Given the description of an element on the screen output the (x, y) to click on. 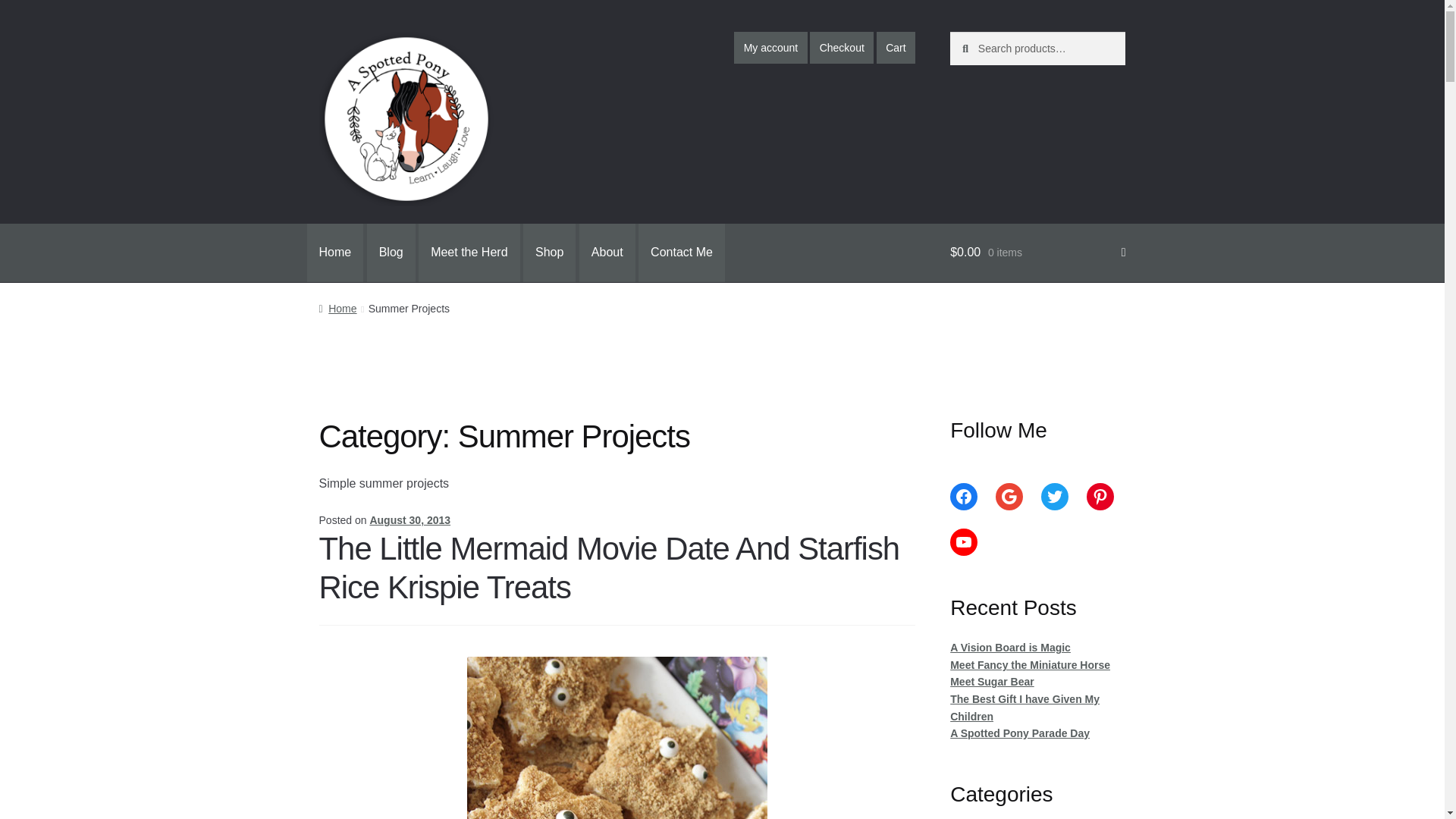
My account (769, 47)
August 30, 2013 (409, 520)
Meet the Herd (469, 252)
Contact Me (682, 252)
Checkout (841, 47)
Home (335, 252)
About (606, 252)
